Given the description of an element on the screen output the (x, y) to click on. 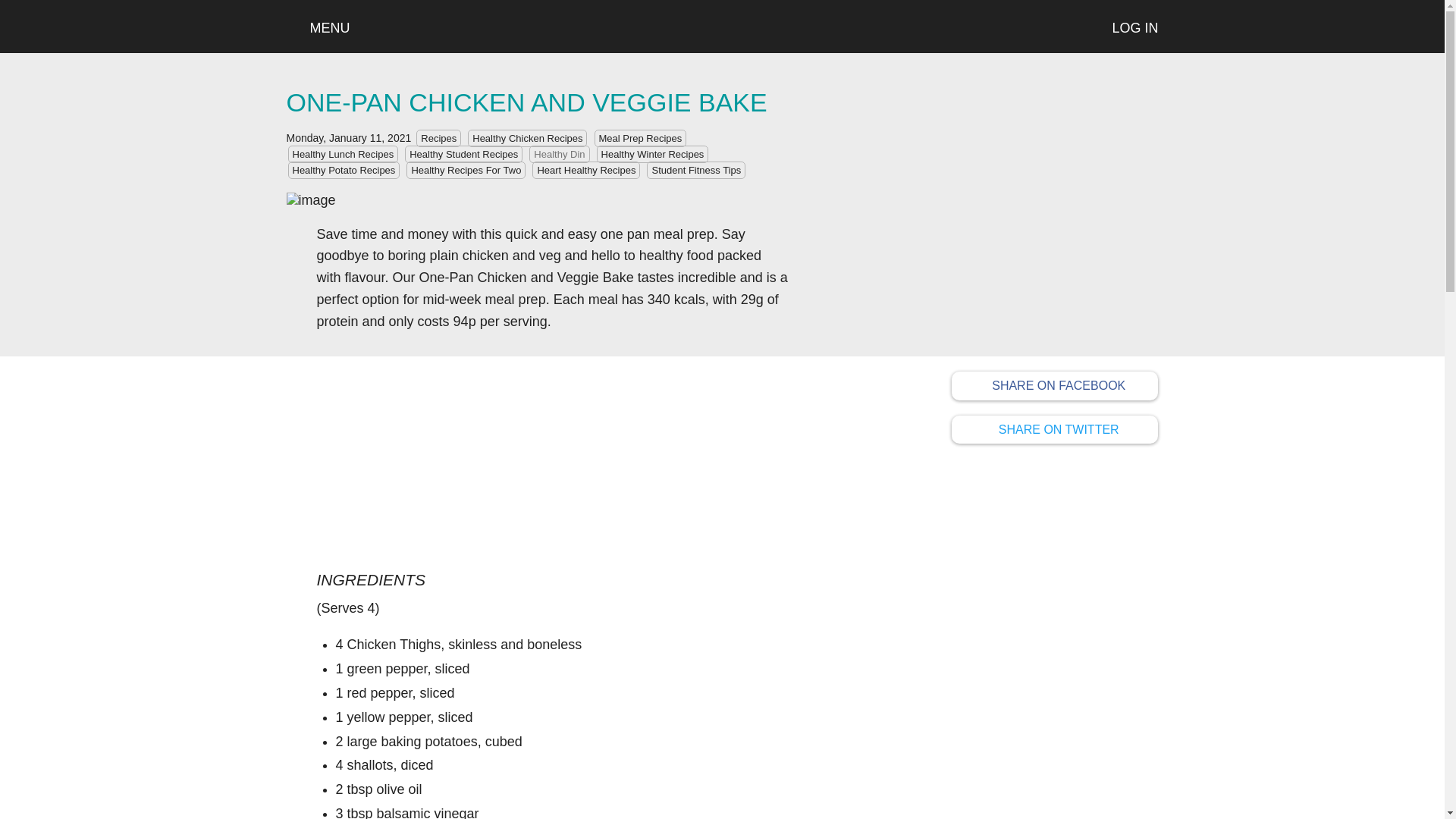
Home (722, 26)
PureGym (973, 383)
MENU (318, 28)
Share on Facebook (1055, 429)
PureGym (973, 427)
Share on Facebook (1055, 385)
